Given the description of an element on the screen output the (x, y) to click on. 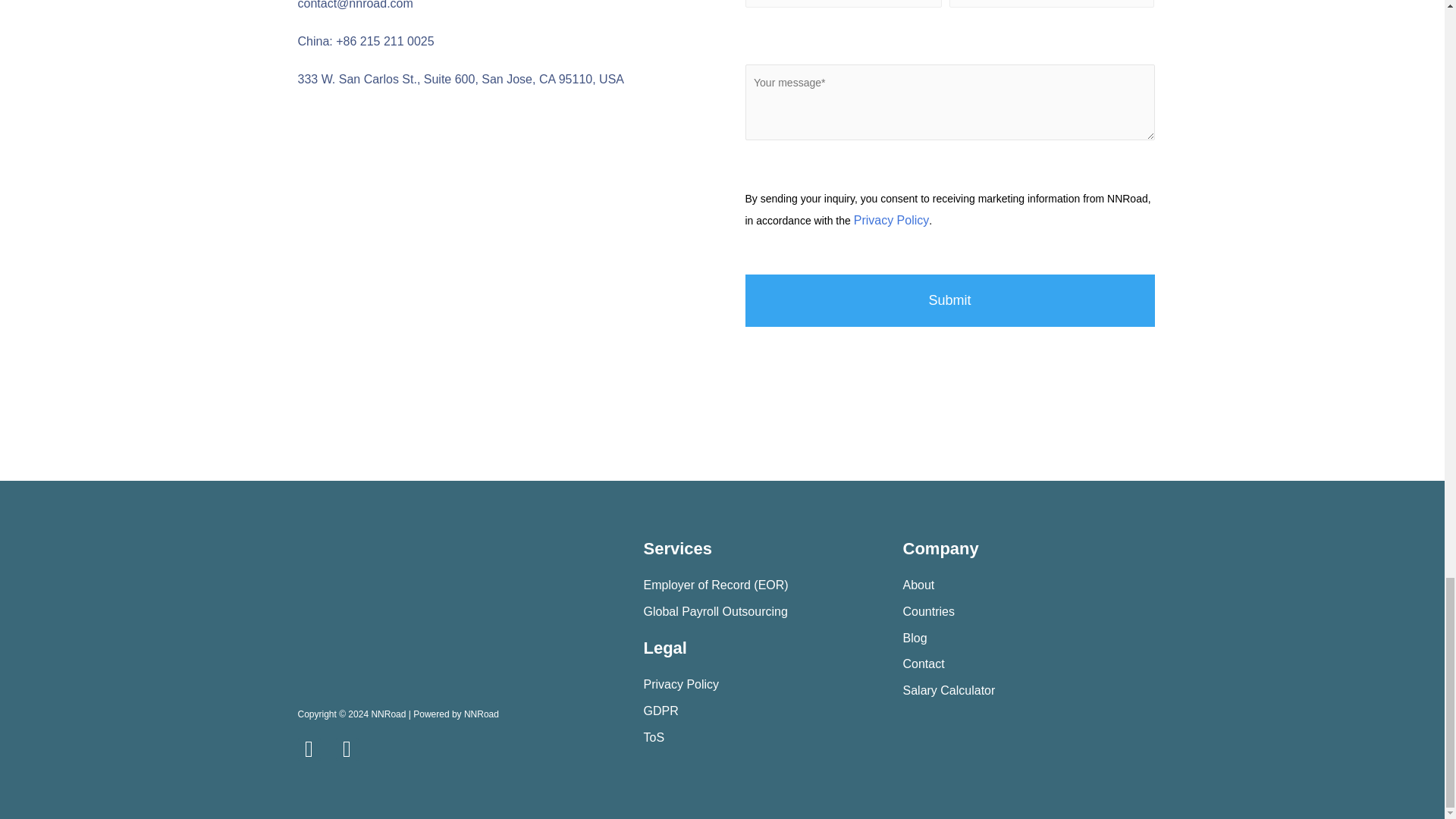
Submit (949, 300)
